Given the description of an element on the screen output the (x, y) to click on. 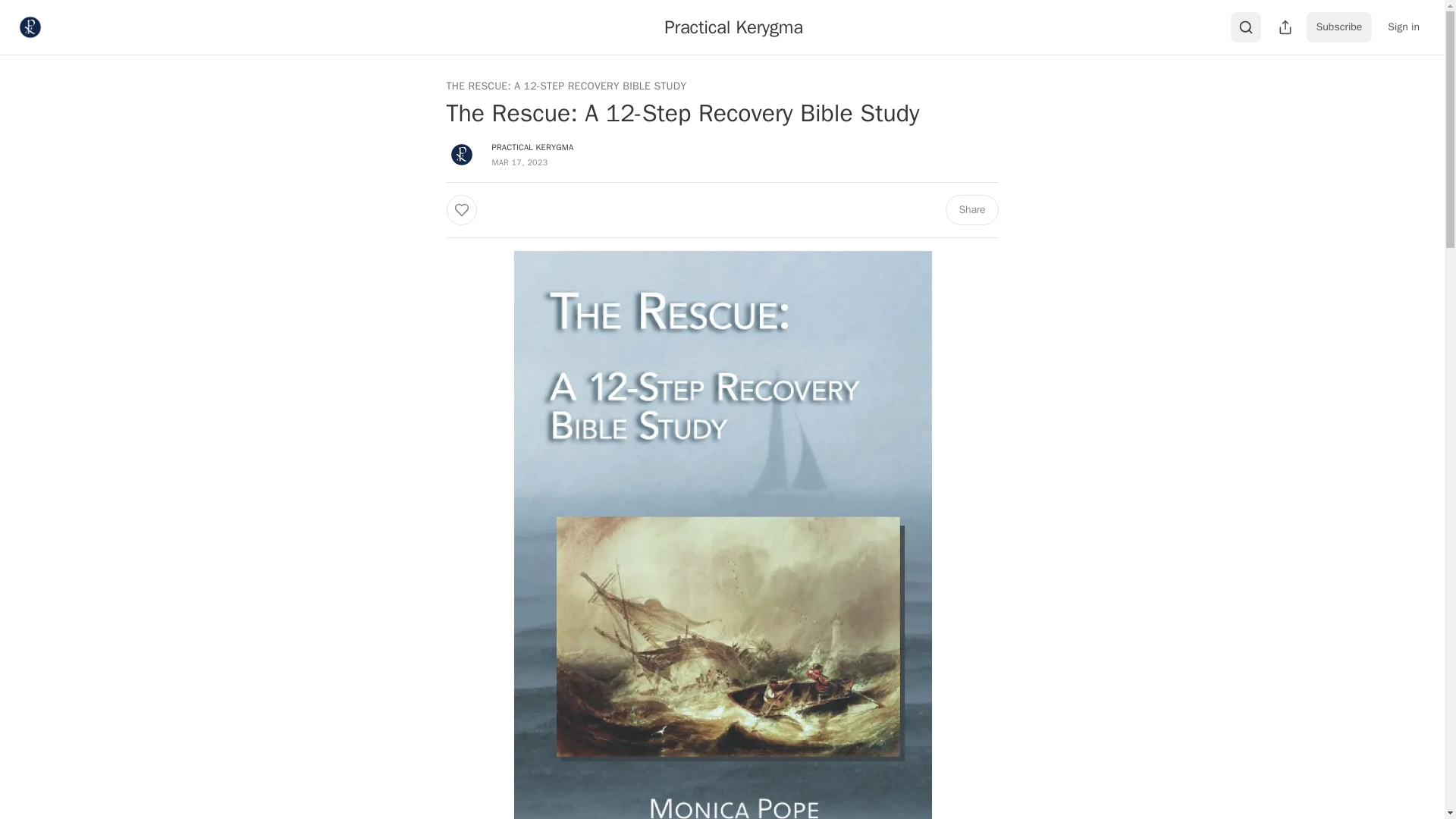
Sign in (1403, 27)
THE RESCUE: A 12-STEP RECOVERY BIBLE STUDY (565, 86)
Share (970, 209)
Practical Kerygma (733, 26)
PRACTICAL KERYGMA (532, 146)
Subscribe (1339, 27)
